Given the description of an element on the screen output the (x, y) to click on. 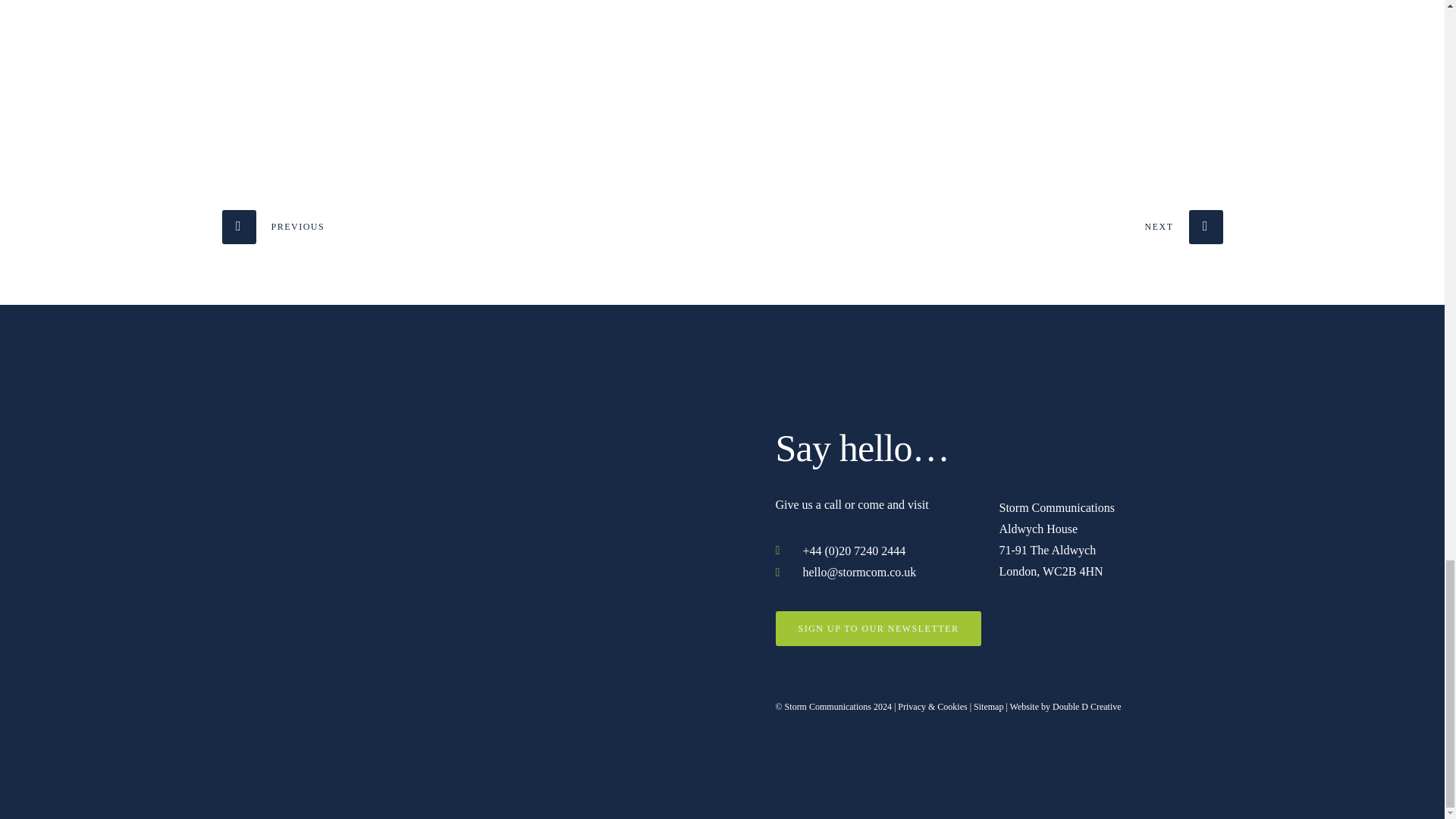
NEXT (1183, 226)
drinks-from-the-dram-3 (384, 74)
drinks-from-the-dram-2 (1061, 74)
PREVIOUS (272, 226)
drinks-from-the-dram-1 (721, 74)
